Given the description of an element on the screen output the (x, y) to click on. 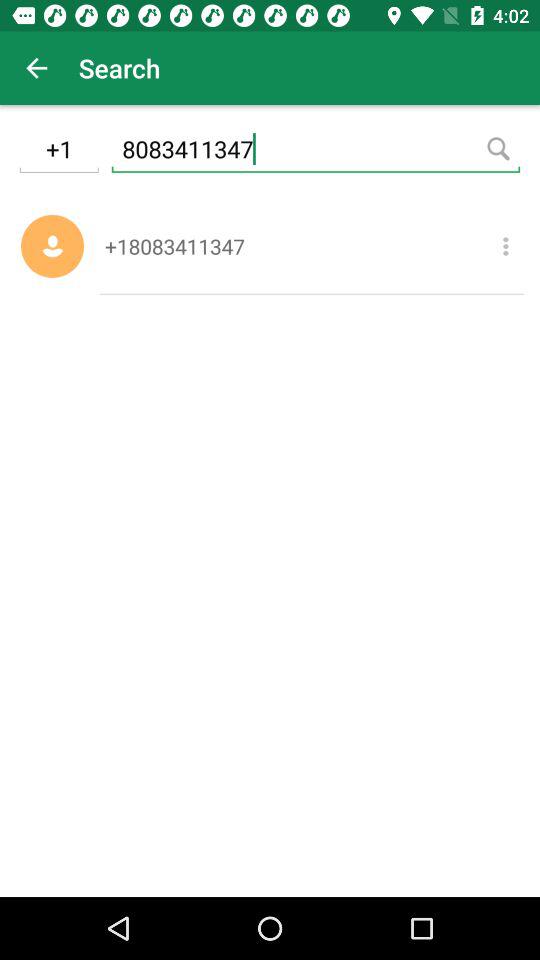
jump to 8083411347 (315, 151)
